Given the description of an element on the screen output the (x, y) to click on. 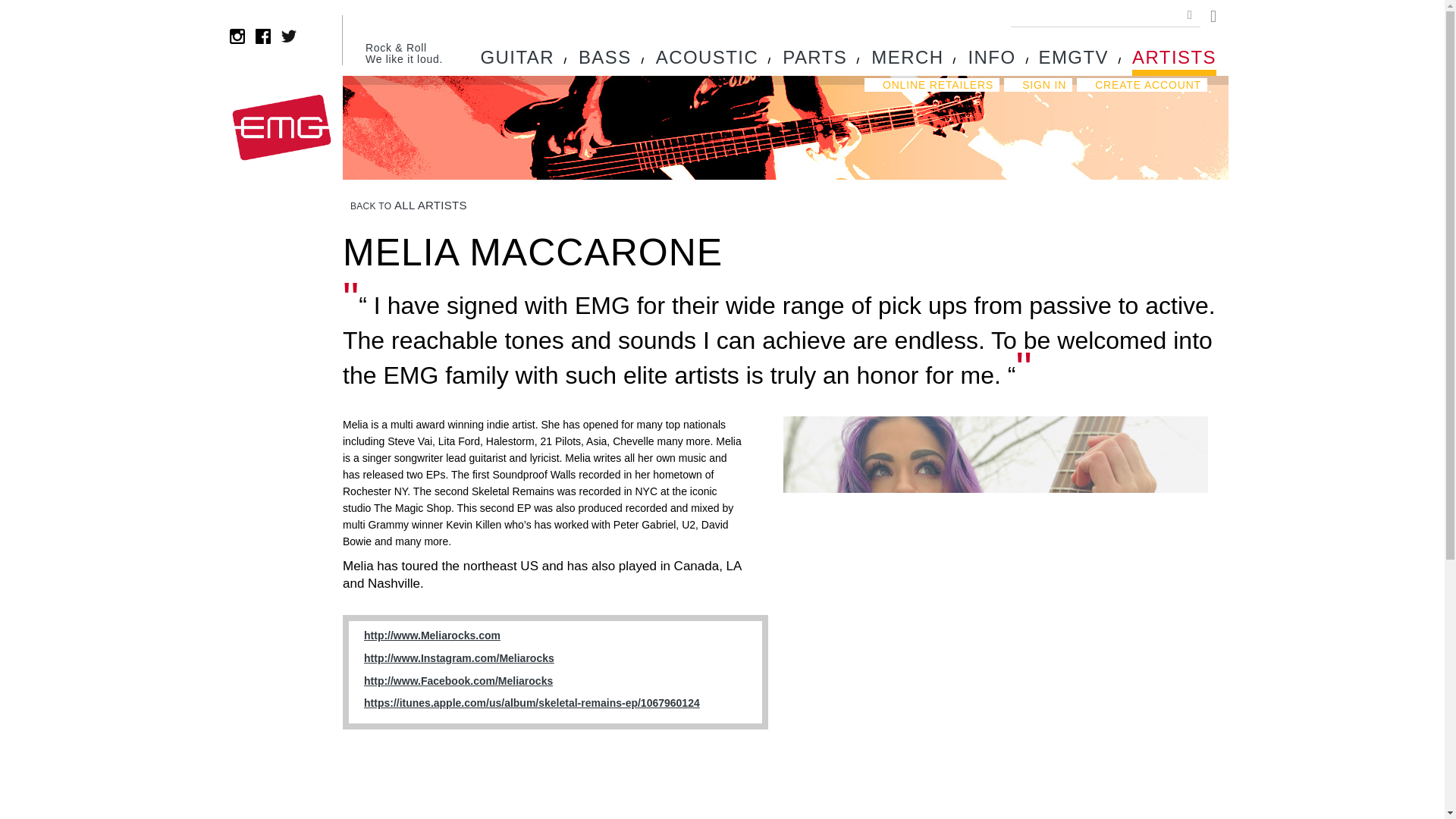
Facebook (263, 36)
CREATE ACCOUNT (1142, 84)
Instagram (237, 36)
Twitter (289, 36)
BASS (604, 60)
ACOUSTIC (707, 60)
GUITAR (517, 60)
SIGN IN (1037, 84)
ONLINE RETAILERS (931, 84)
